Given the description of an element on the screen output the (x, y) to click on. 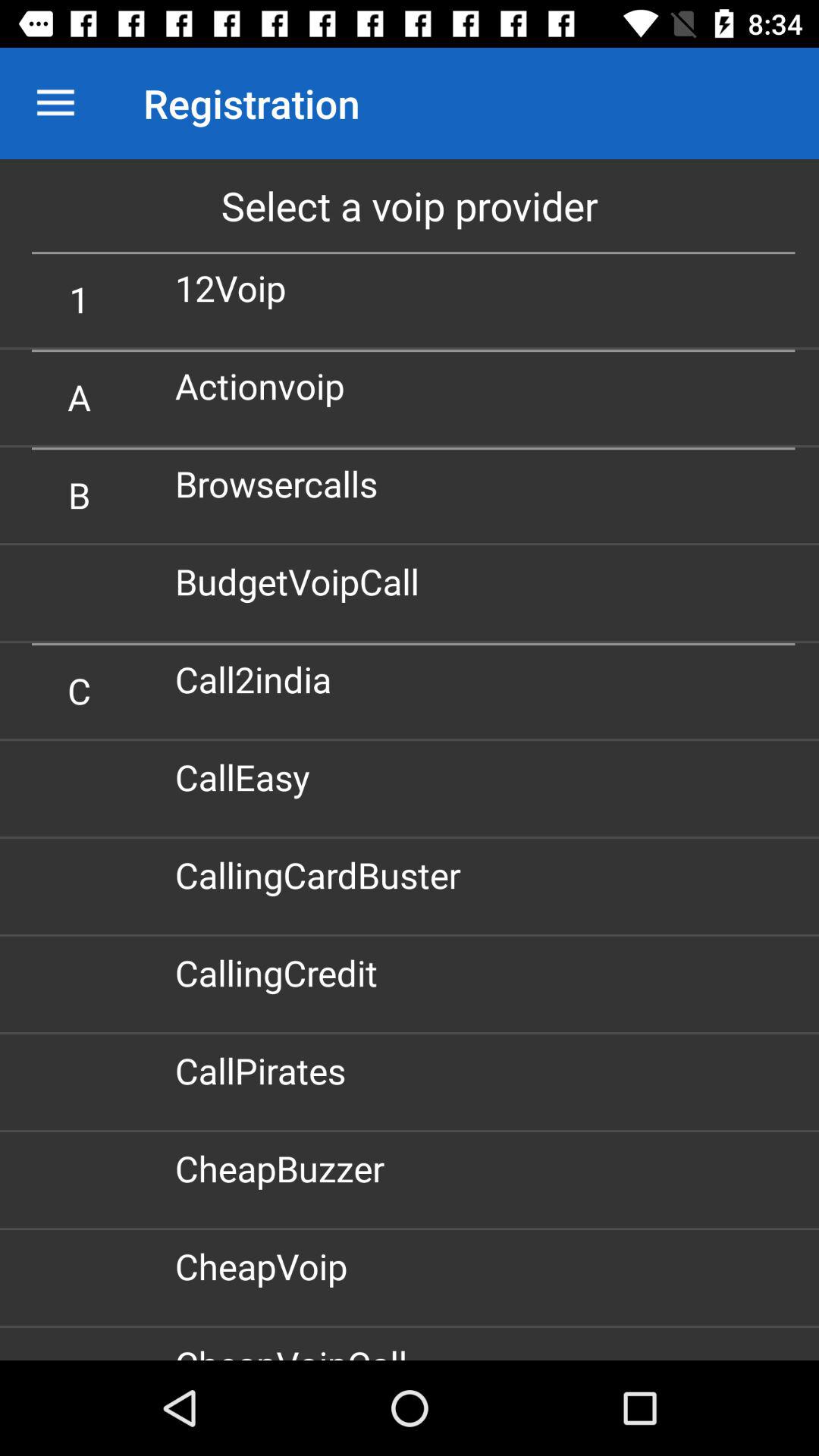
turn off callpirates (266, 1070)
